Given the description of an element on the screen output the (x, y) to click on. 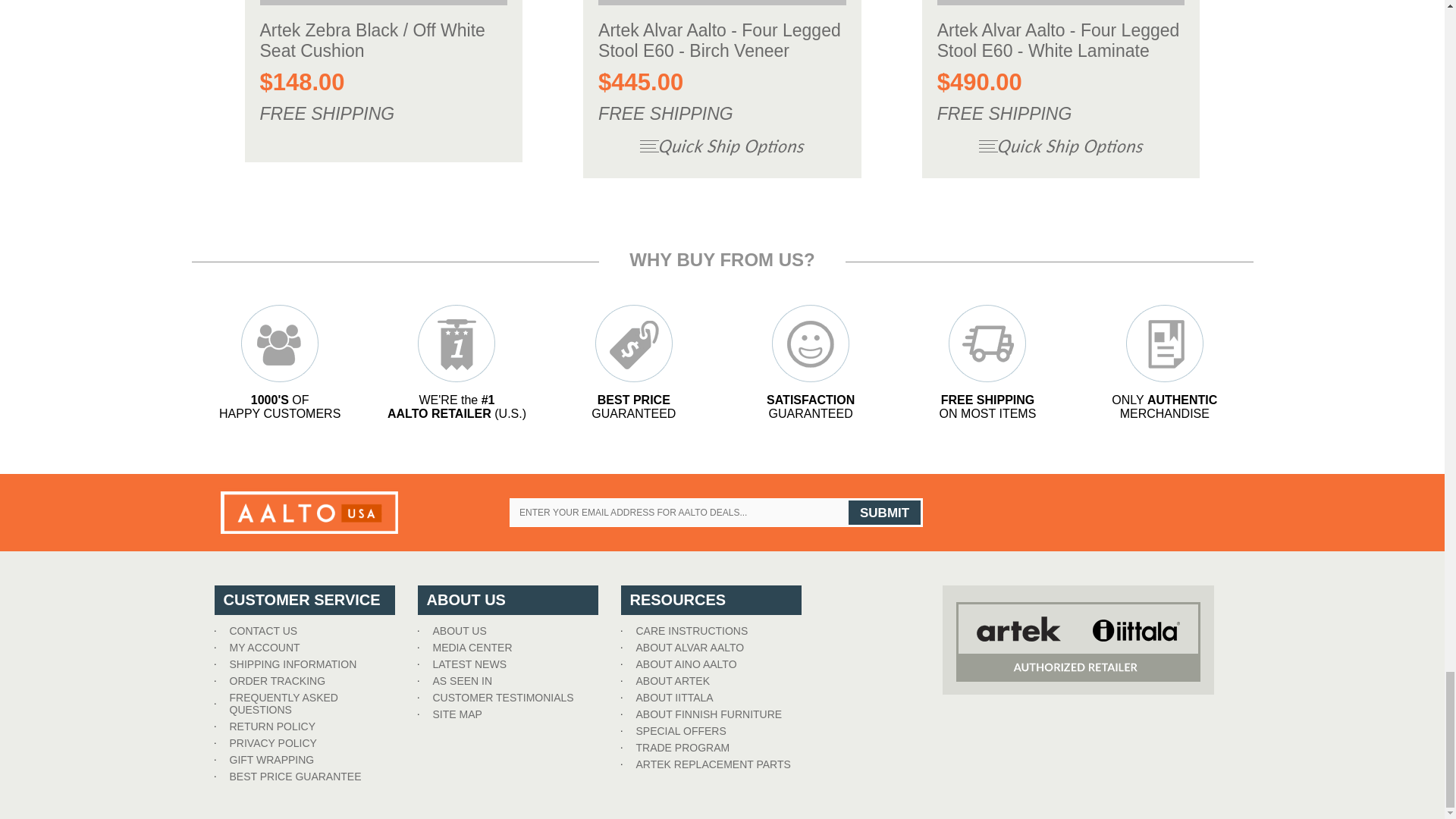
SUBMIT (884, 512)
